Given the description of an element on the screen output the (x, y) to click on. 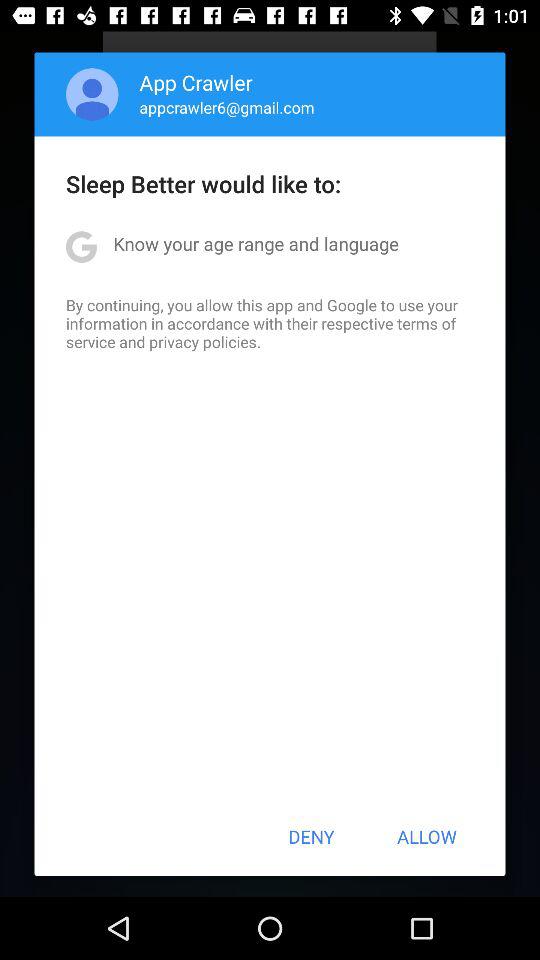
turn on app crawler (195, 82)
